Given the description of an element on the screen output the (x, y) to click on. 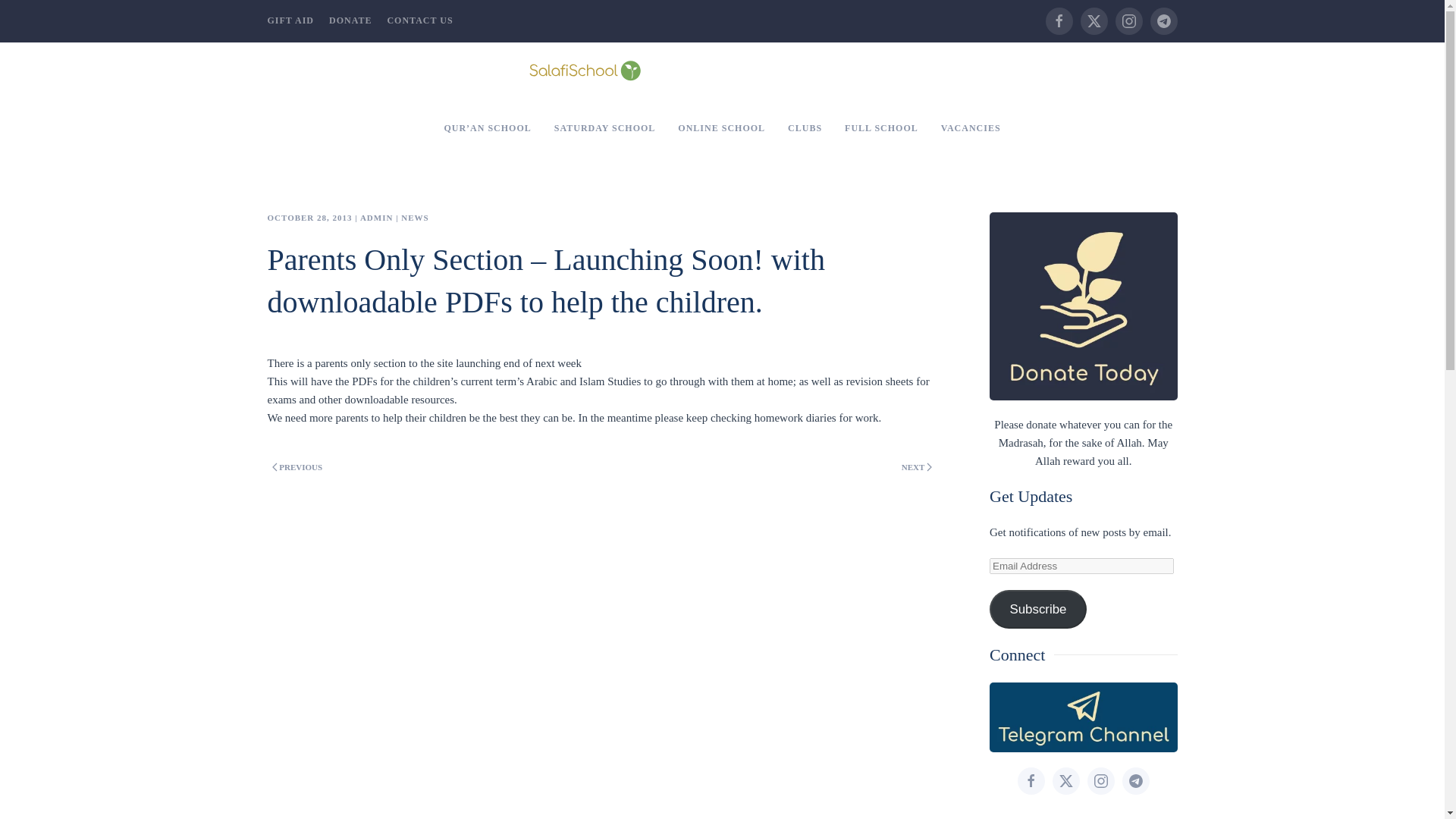
ADMIN (376, 216)
DONATE (350, 20)
ONLINE SCHOOL (721, 128)
NEXT (916, 466)
Subscribe (1038, 608)
FULL SCHOOL (881, 128)
VACANCIES (970, 128)
PREVIOUS (296, 466)
SATURDAY SCHOOL (604, 128)
GIFT AID (289, 20)
NEWS (414, 216)
CONTACT US (419, 20)
CLUBS (804, 128)
